Given the description of an element on the screen output the (x, y) to click on. 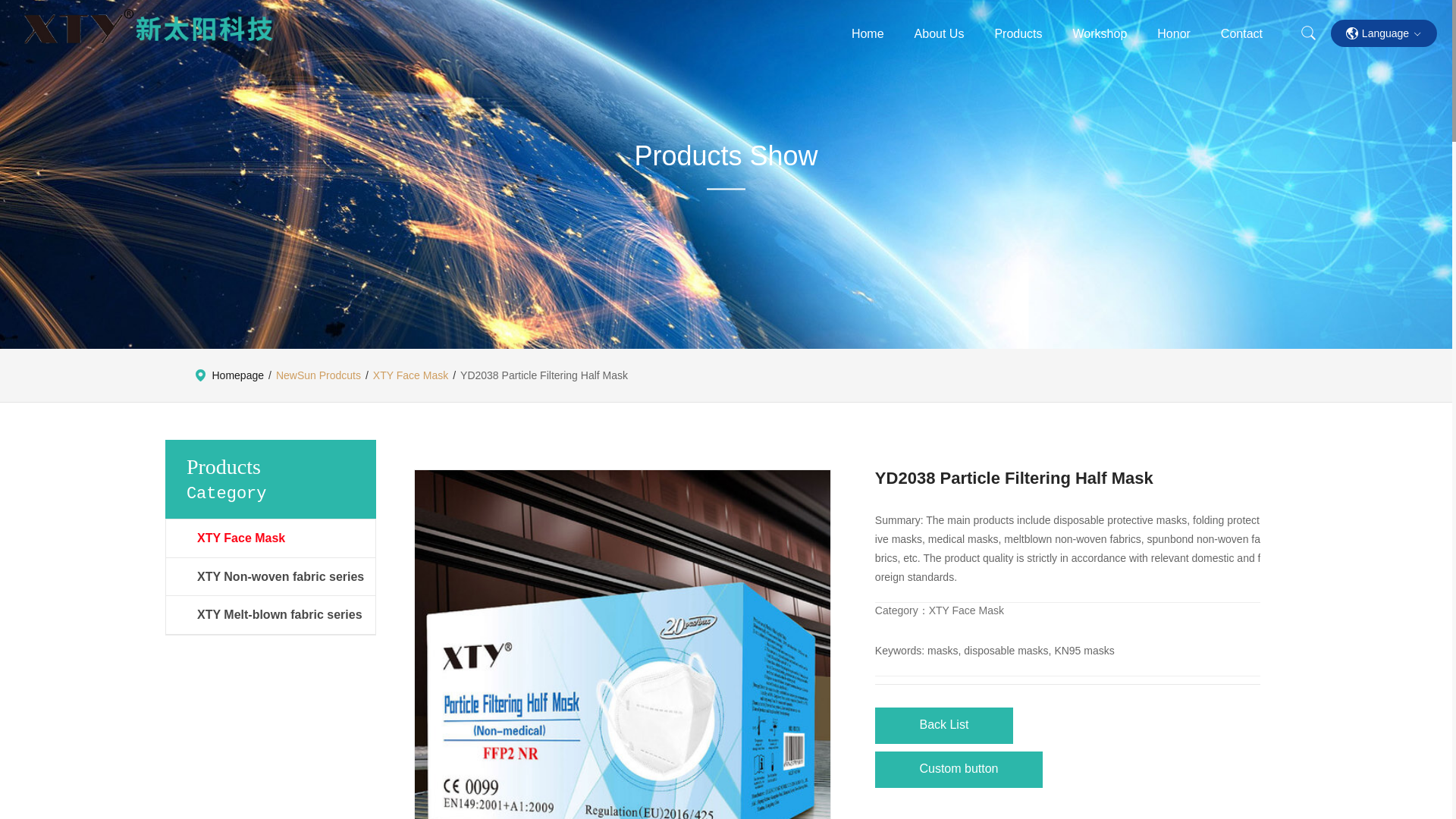
About Us (938, 33)
Contact (1241, 33)
Custom button (958, 769)
Back List (944, 727)
XTY Non-woven fabric series (285, 576)
Honor (1174, 33)
Workshop (1099, 33)
Products (1018, 33)
Home (867, 33)
XTY Face Mask (410, 375)
XTY Melt-blown fabric series (285, 614)
Newsun Technology (149, 27)
NewSun Prodcuts (318, 375)
Custom button (958, 771)
XTY Face Mask (285, 538)
